Given the description of an element on the screen output the (x, y) to click on. 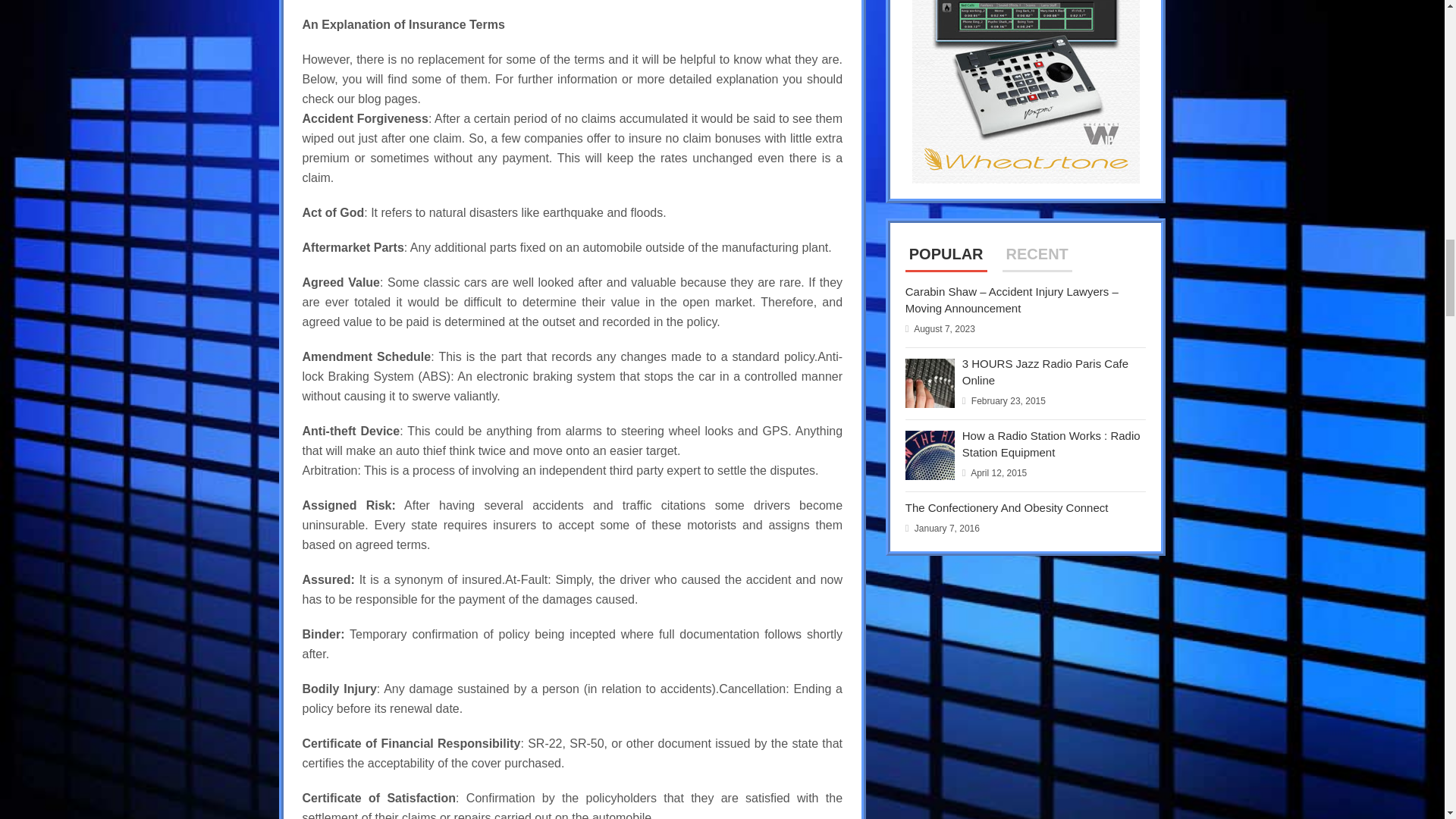
3 HOURS Jazz Radio Paris Cafe Online (1045, 371)
How a Radio Station Works : Radio Station Equipment (1051, 443)
The Confectionery And Obesity Connect (1006, 507)
